Given the description of an element on the screen output the (x, y) to click on. 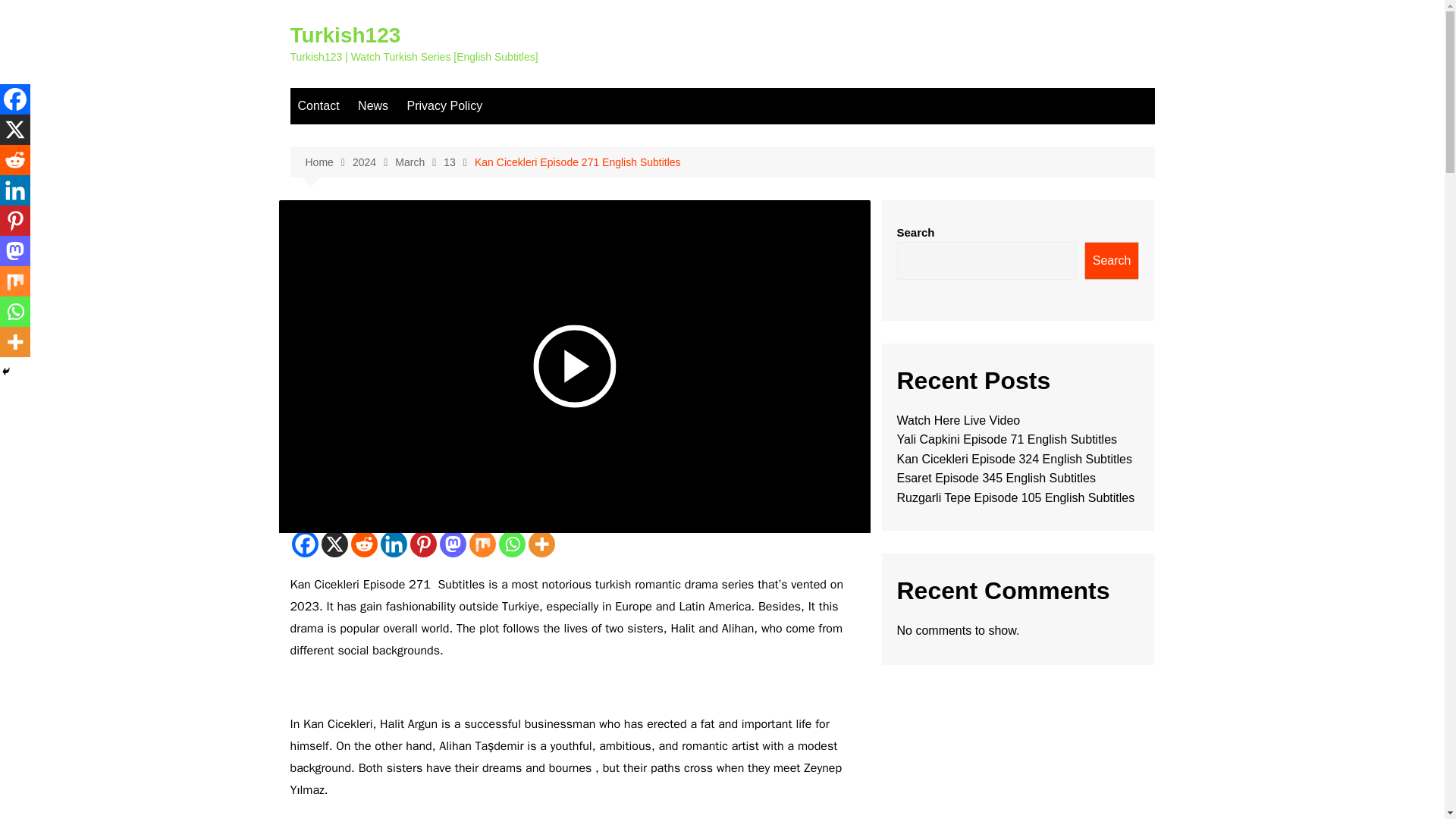
X (15, 129)
Pinterest (422, 543)
0 (444, 288)
Contact (317, 105)
Whatsapp (512, 543)
Kan Cicekleri Episode 271 English Subtitles (577, 161)
Linkedin (393, 543)
March (419, 162)
admin (307, 288)
News (373, 105)
Facebook (15, 99)
13 (459, 162)
Home (328, 162)
Reddit (15, 159)
Mix (481, 543)
